Given the description of an element on the screen output the (x, y) to click on. 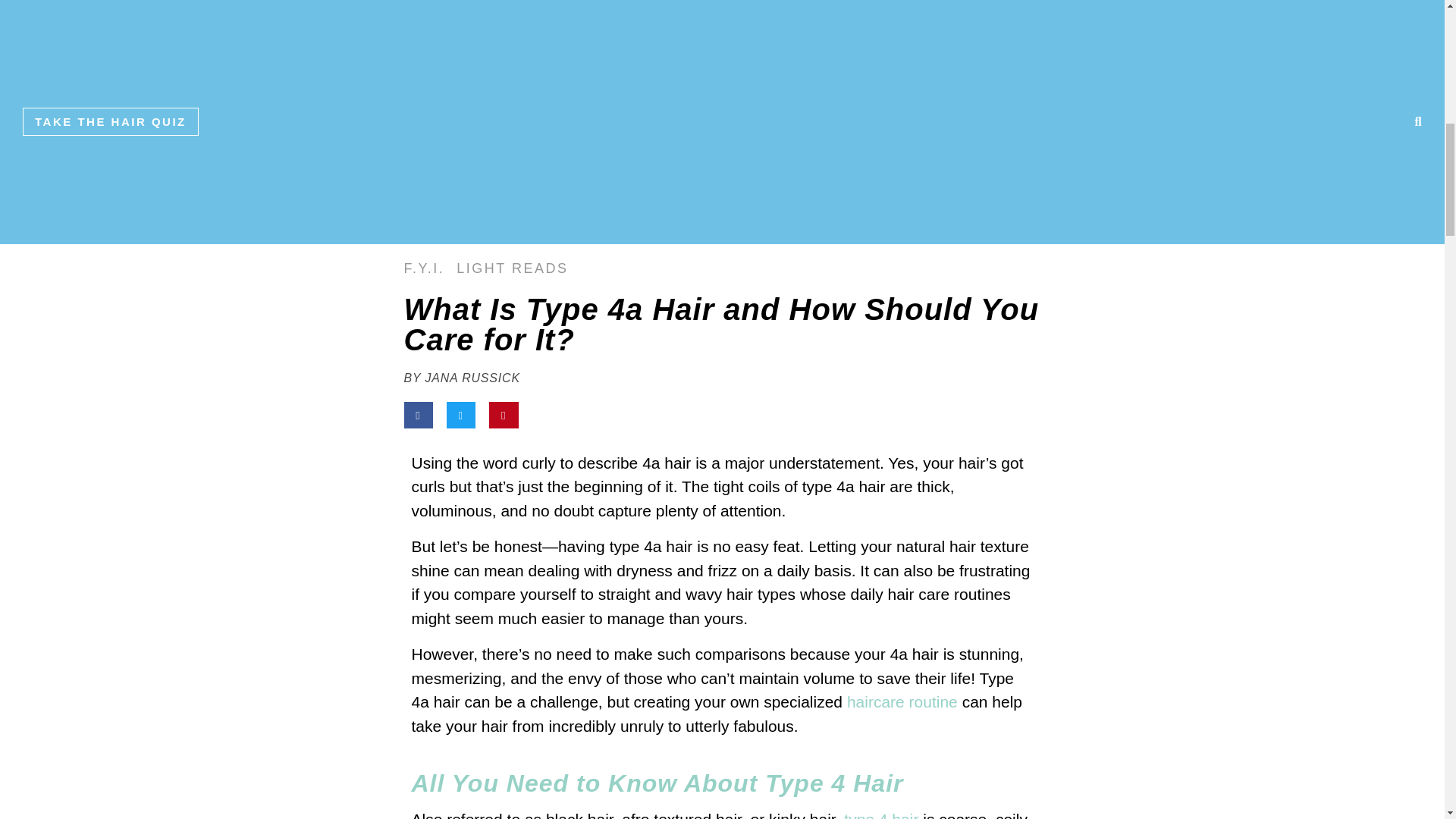
F.Y.I. (423, 268)
LIGHT READS (512, 268)
type 4 hair (881, 814)
haircare routine (902, 701)
